Given the description of an element on the screen output the (x, y) to click on. 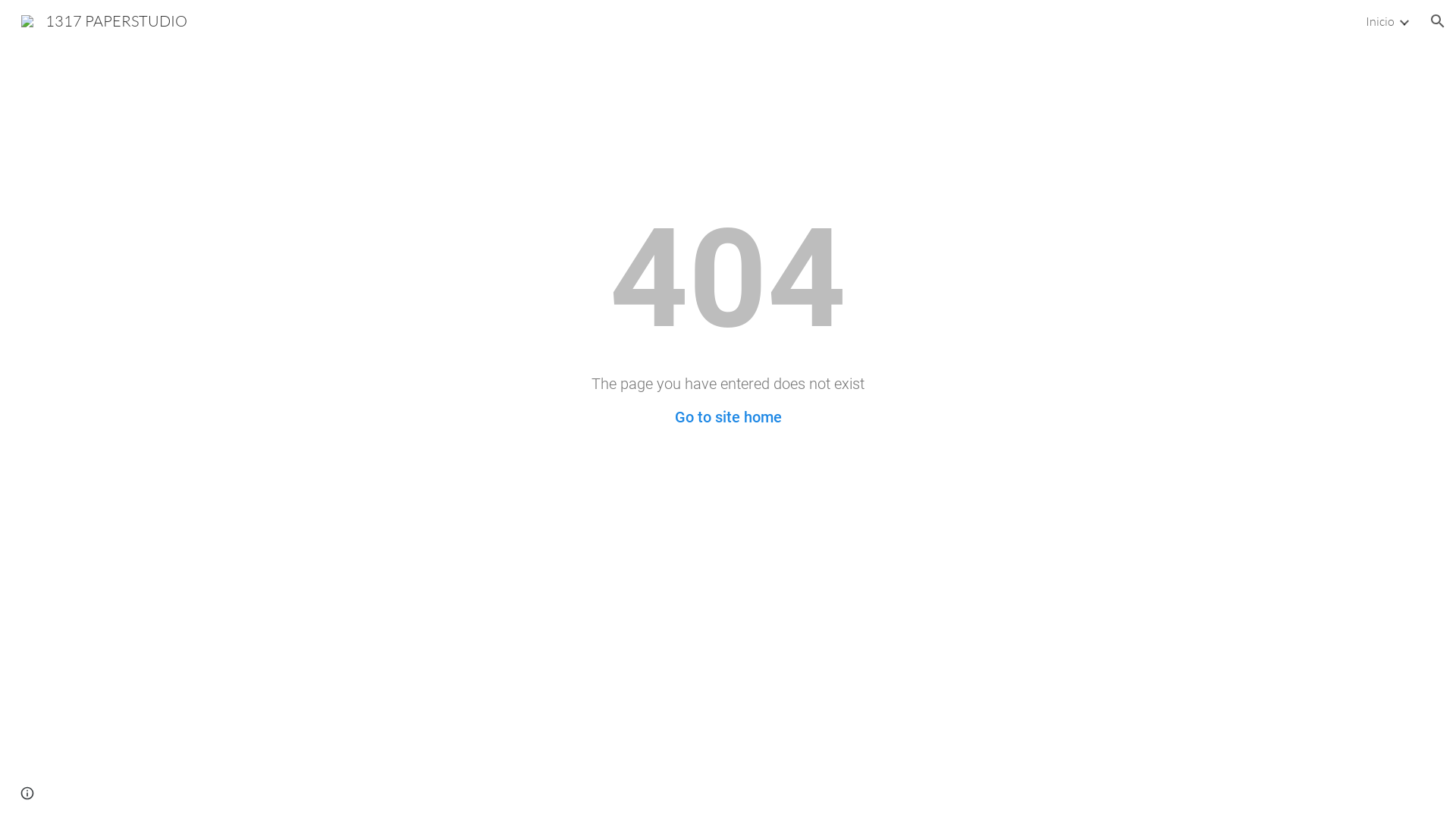
Inicio Element type: text (1379, 20)
1317 PAPERSTUDIO Element type: text (104, 18)
Go to site home Element type: text (727, 416)
Expand/Collapse Element type: hover (1403, 20)
